Given the description of an element on the screen output the (x, y) to click on. 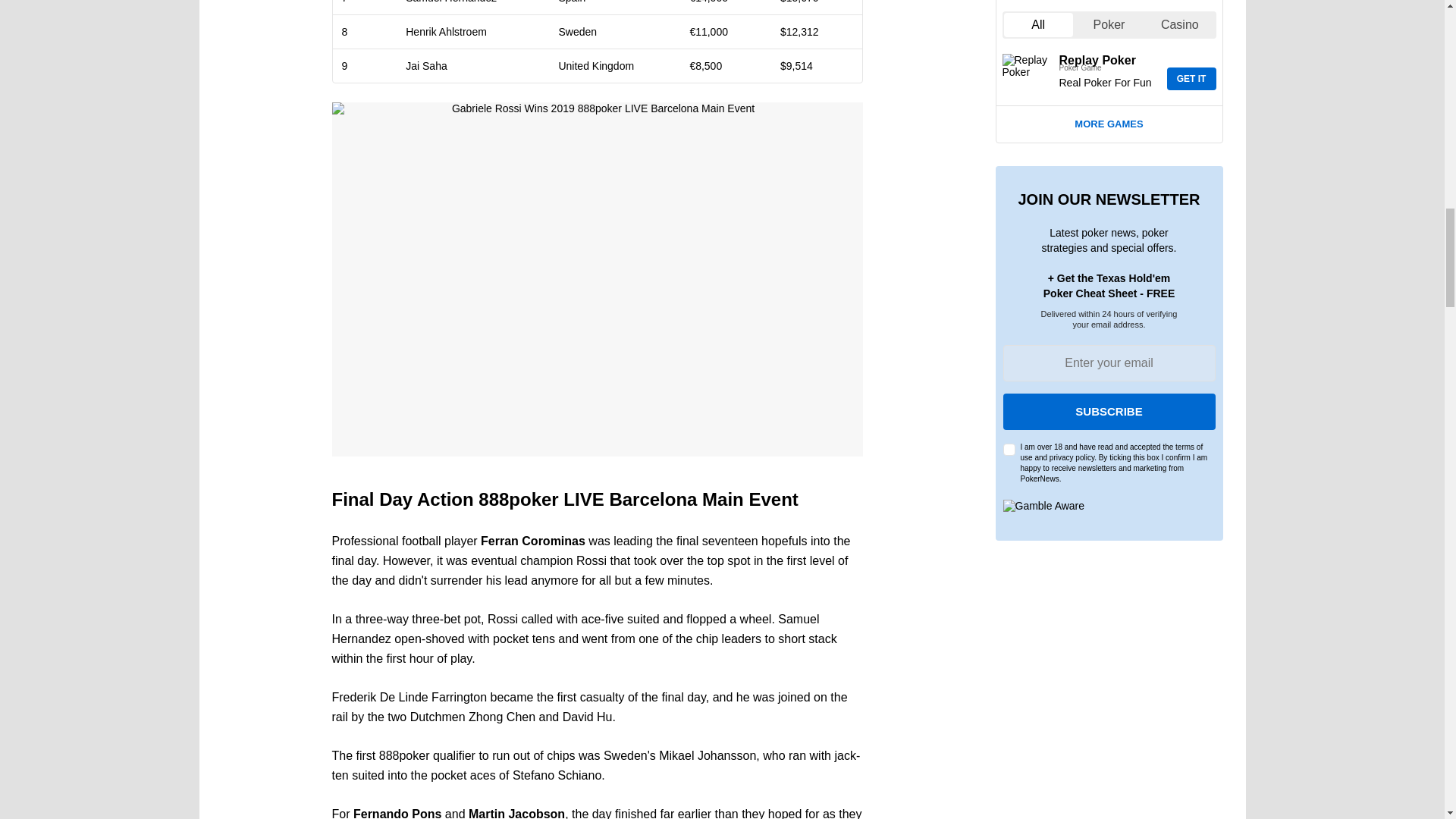
on (1008, 449)
